Given the description of an element on the screen output the (x, y) to click on. 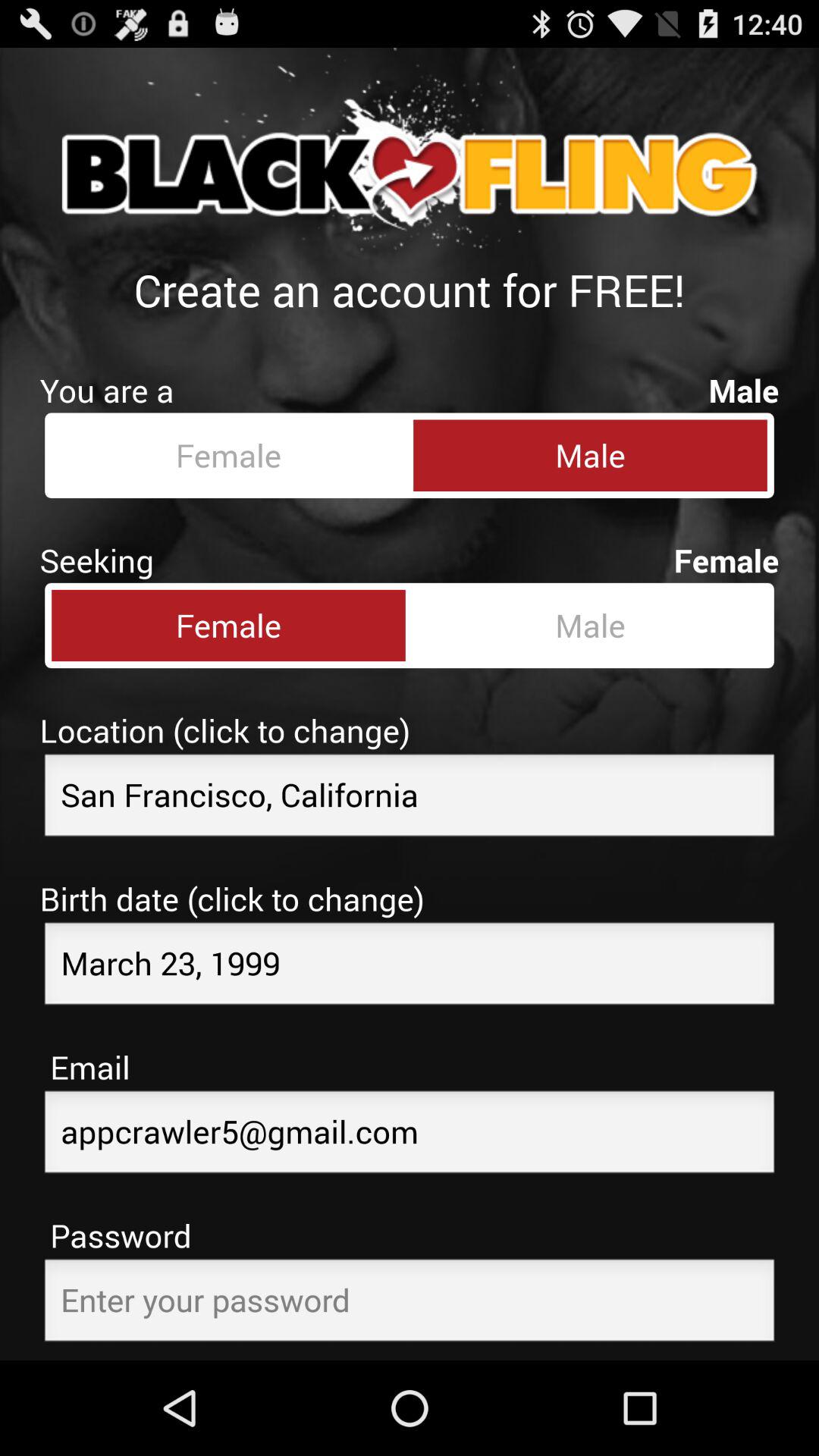
enter birthday (409, 967)
